Given the description of an element on the screen output the (x, y) to click on. 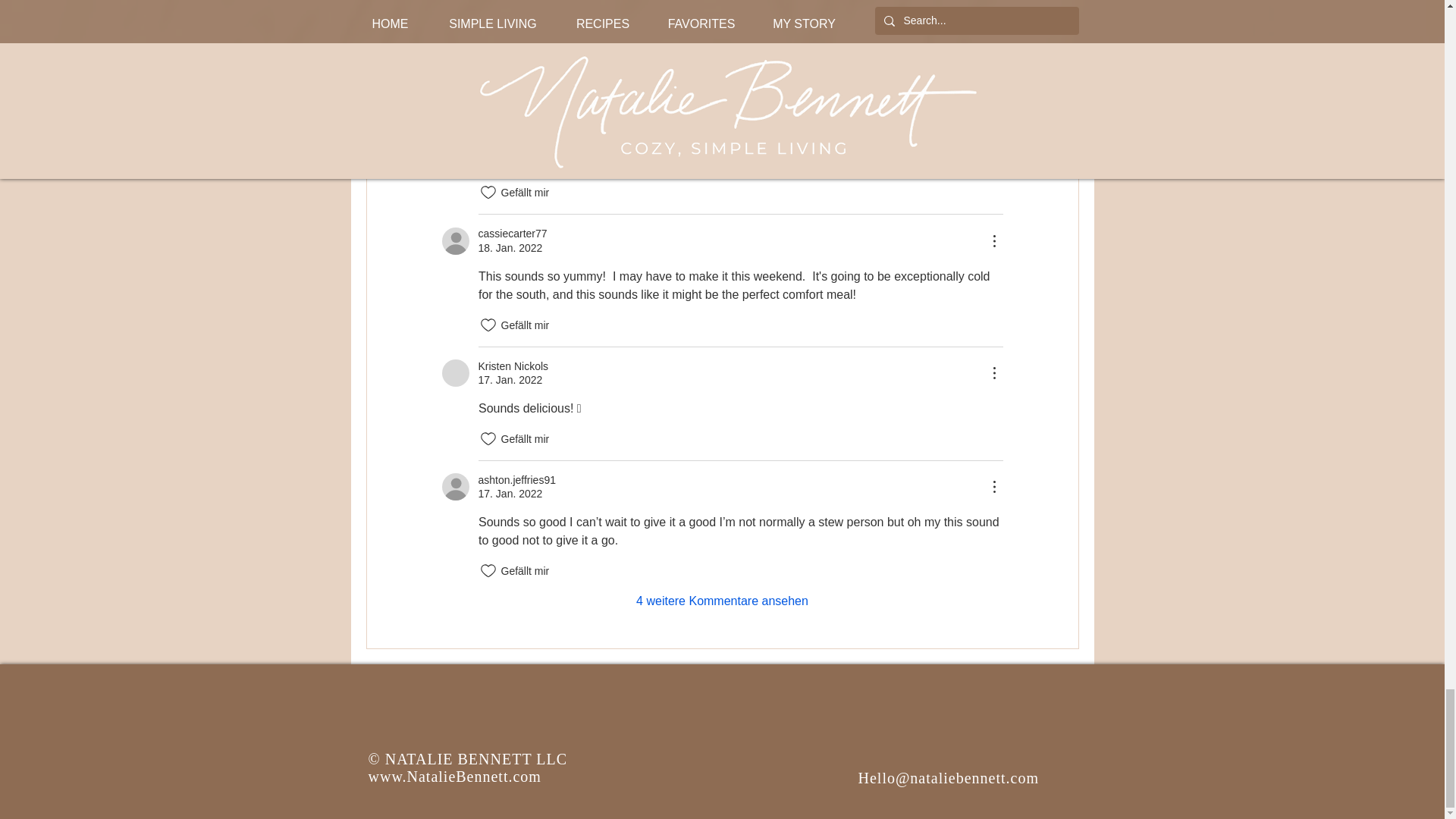
Kristen Nickols (454, 372)
J S (454, 72)
